Given the description of an element on the screen output the (x, y) to click on. 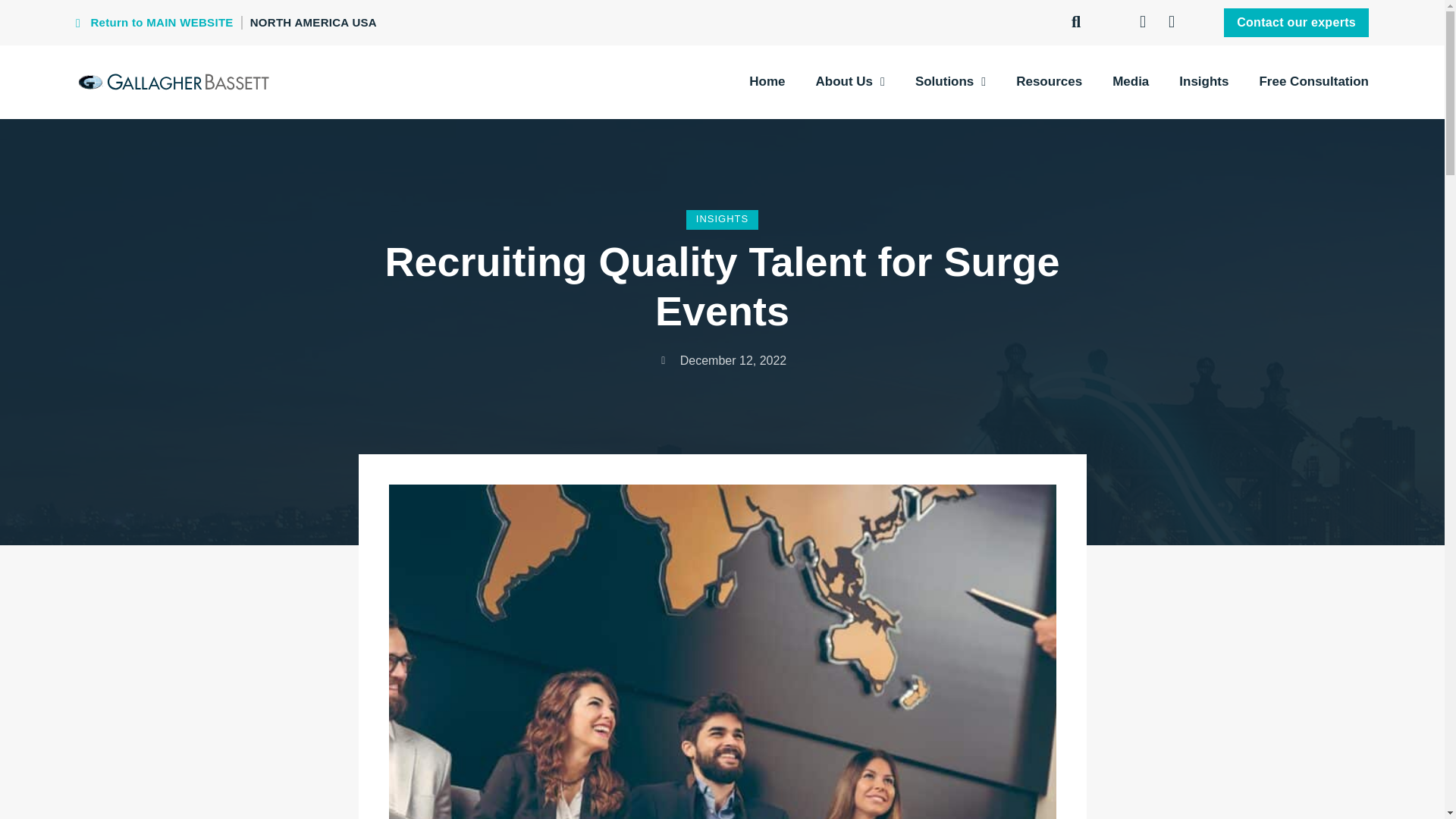
Contact our experts (1296, 21)
Insights (1203, 82)
Solutions (950, 82)
Return to MAIN WEBSITE (153, 22)
Resources (1048, 82)
Free Consultation (1313, 82)
About Us (850, 82)
